Given the description of an element on the screen output the (x, y) to click on. 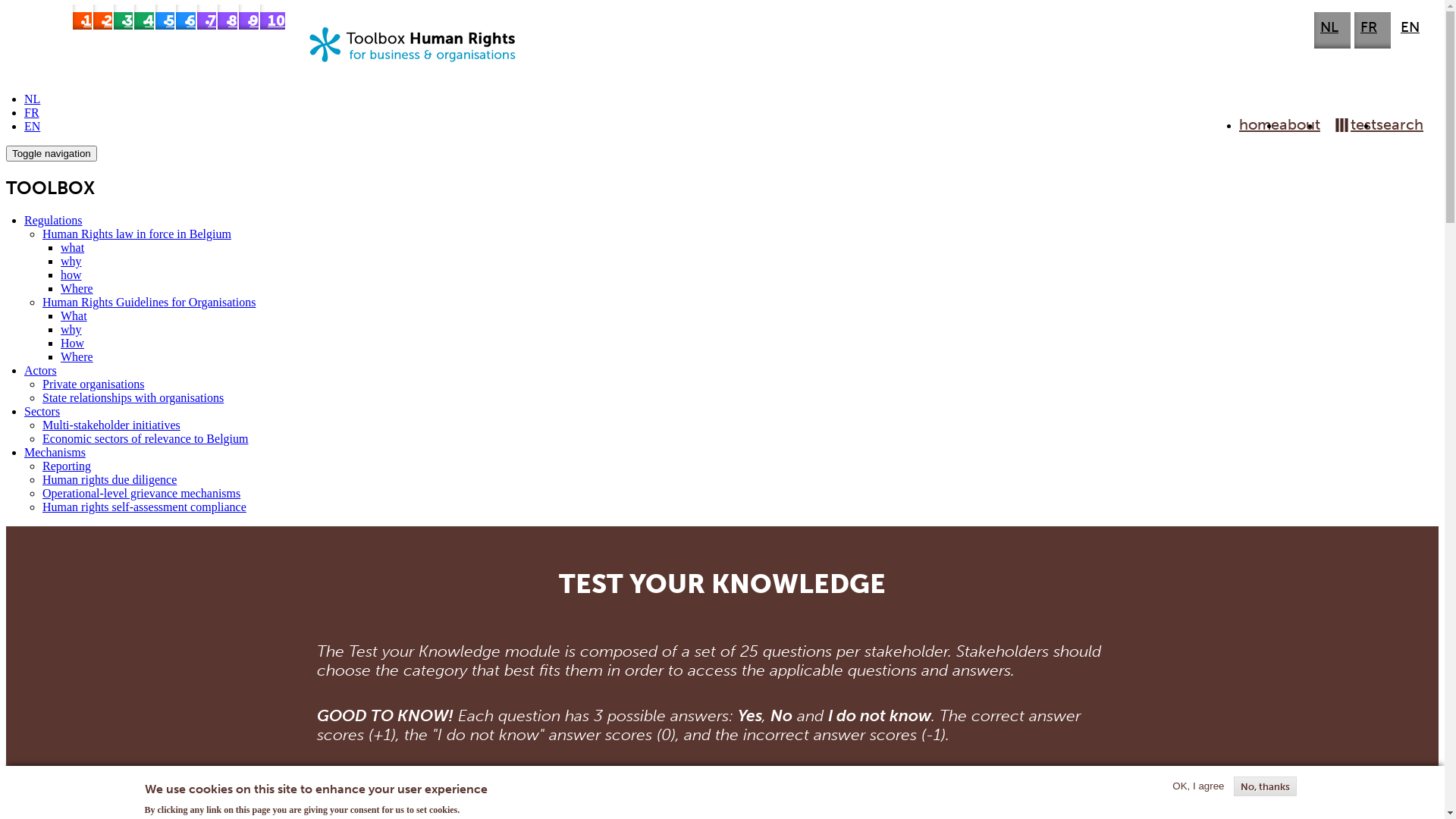
FR Element type: text (31, 112)
home Element type: text (1259, 124)
Multi-stakeholder initiatives Element type: hover (164, 16)
Guidelines related to Organisations and Human Rights Element type: hover (102, 16)
search Element type: text (1399, 124)
How Element type: text (72, 342)
Sectors Element type: text (41, 410)
EN Element type: text (32, 125)
Private organisations Element type: text (93, 383)
Toggle navigation Element type: text (51, 153)
Regulations Element type: text (52, 219)
NL Element type: text (1329, 26)
NL Element type: text (32, 98)
Mechanisms Element type: text (54, 451)
what Element type: text (72, 247)
Human rights self-assessment compliance Element type: hover (272, 16)
Home Element type: hover (421, 72)
Human Rights law in force in Belgium Element type: text (136, 233)
Human rights due diligence Element type: hover (227, 16)
Reporting Element type: text (66, 465)
why Element type: text (70, 260)
Human Rights Guidelines for Organisations Element type: text (148, 301)
Economic sectors of relevance to Belgium Element type: hover (185, 16)
Economic sectors of relevance to Belgium Element type: text (144, 438)
State relationships with organisations Element type: text (132, 397)
Multi-stakeholder initiatives Element type: text (111, 424)
Private organisations Element type: hover (122, 16)
Where Element type: text (76, 356)
EN Element type: text (1409, 26)
Human rights due diligence Element type: text (109, 479)
State relationships with organisations Element type: hover (143, 16)
how Element type: text (70, 274)
Actors Element type: text (40, 370)
FR Element type: text (1368, 26)
Reporting Element type: hover (206, 16)
OK, I agree Element type: text (1198, 785)
Operational-level grievance mechanisms Element type: text (141, 492)
No, thanks Element type: text (1264, 785)
why Element type: text (70, 329)
test Element type: text (1348, 124)
Where Element type: text (76, 288)
What Element type: text (73, 315)
Human Rights law in force in Belgium Element type: hover (81, 16)
about Element type: text (1299, 124)
Operational-level grievance mechanisms Element type: hover (248, 16)
Human rights self-assessment compliance Element type: text (144, 506)
